Given the description of an element on the screen output the (x, y) to click on. 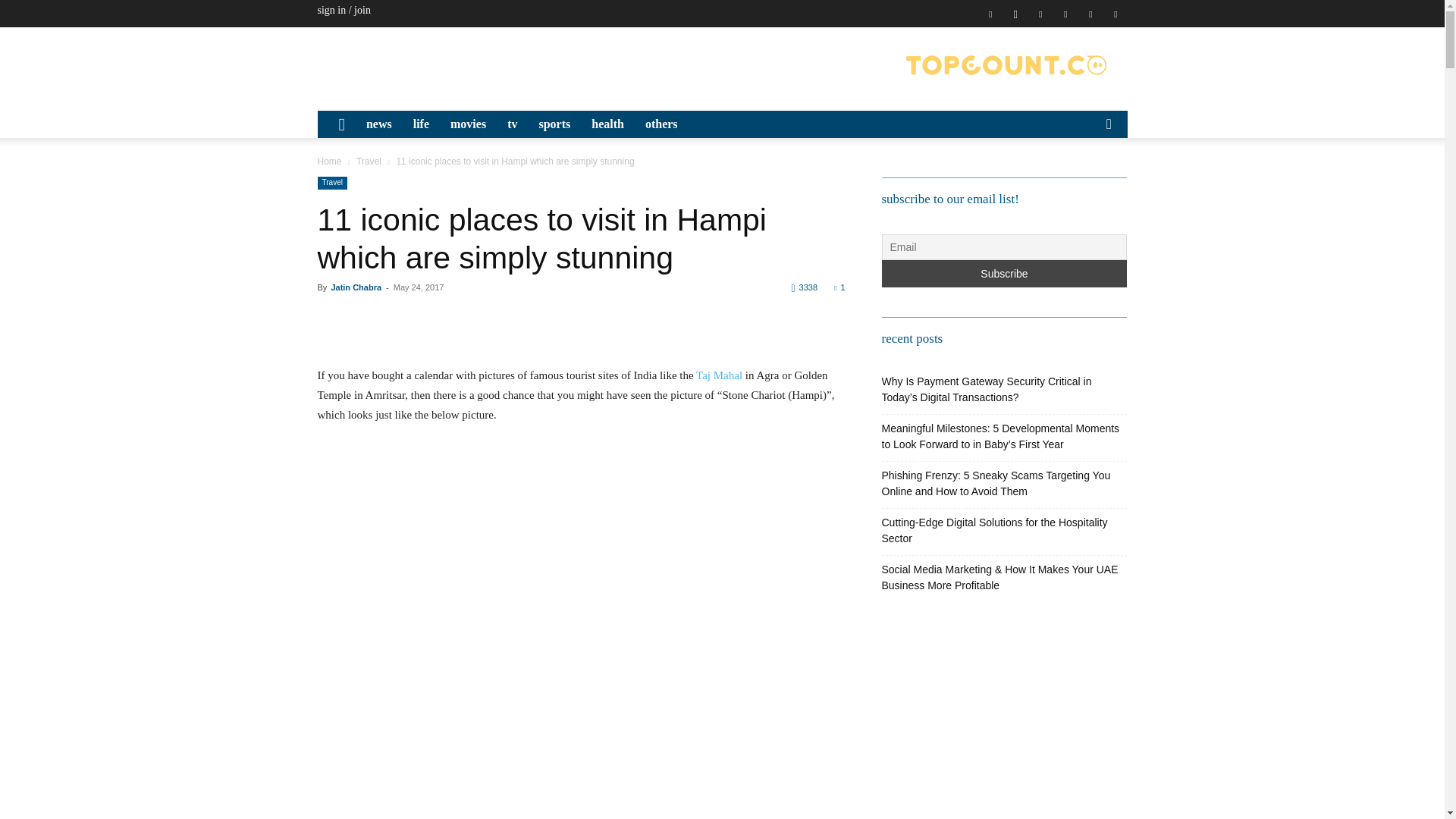
Subscribe (1003, 273)
news (379, 124)
Topcount (1005, 65)
